Given the description of an element on the screen output the (x, y) to click on. 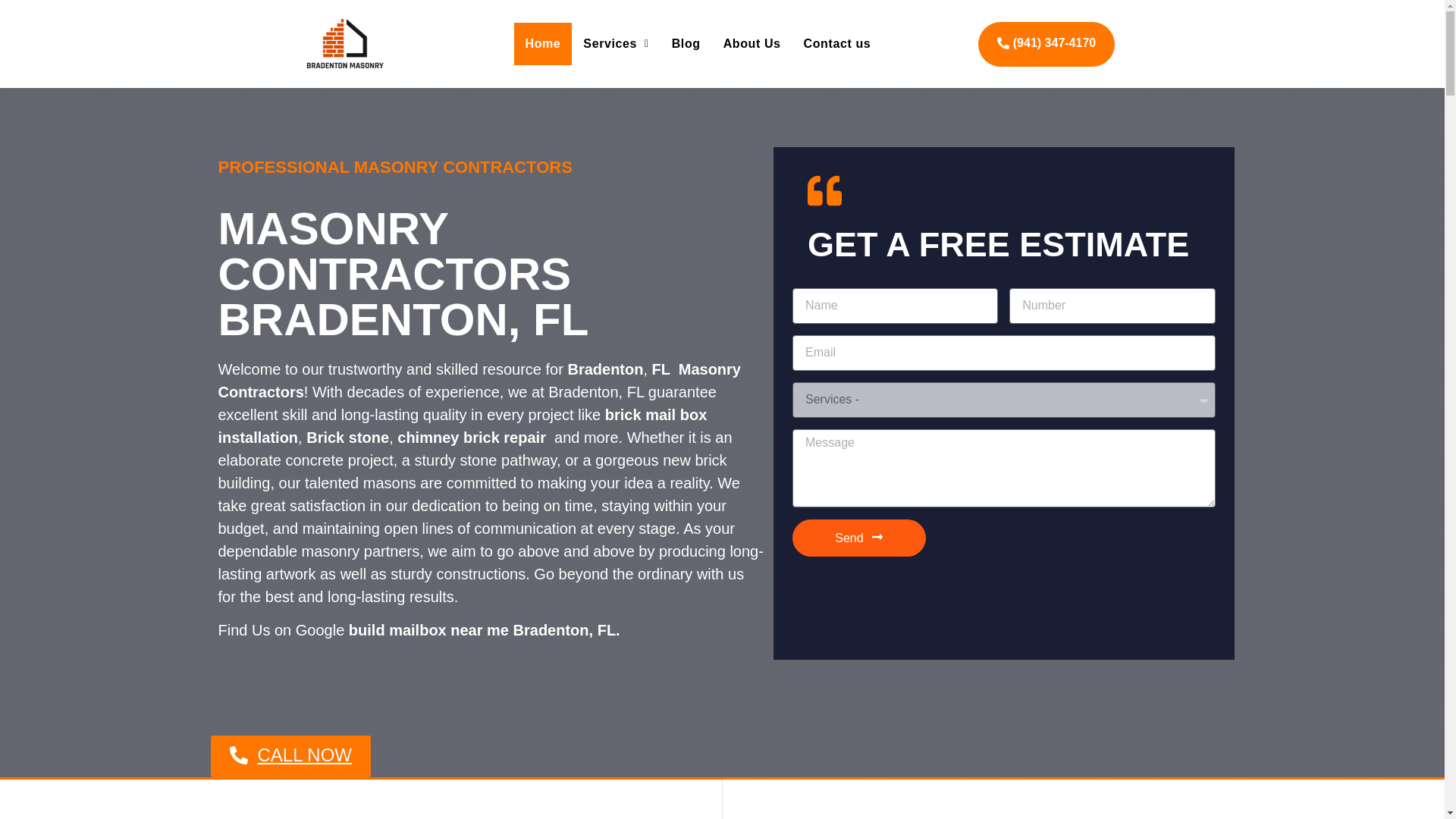
Home (542, 43)
Send (859, 537)
CALL NOW (544, 756)
About Us (751, 43)
Contact us (837, 43)
Services (615, 43)
Blog (686, 43)
